Given the description of an element on the screen output the (x, y) to click on. 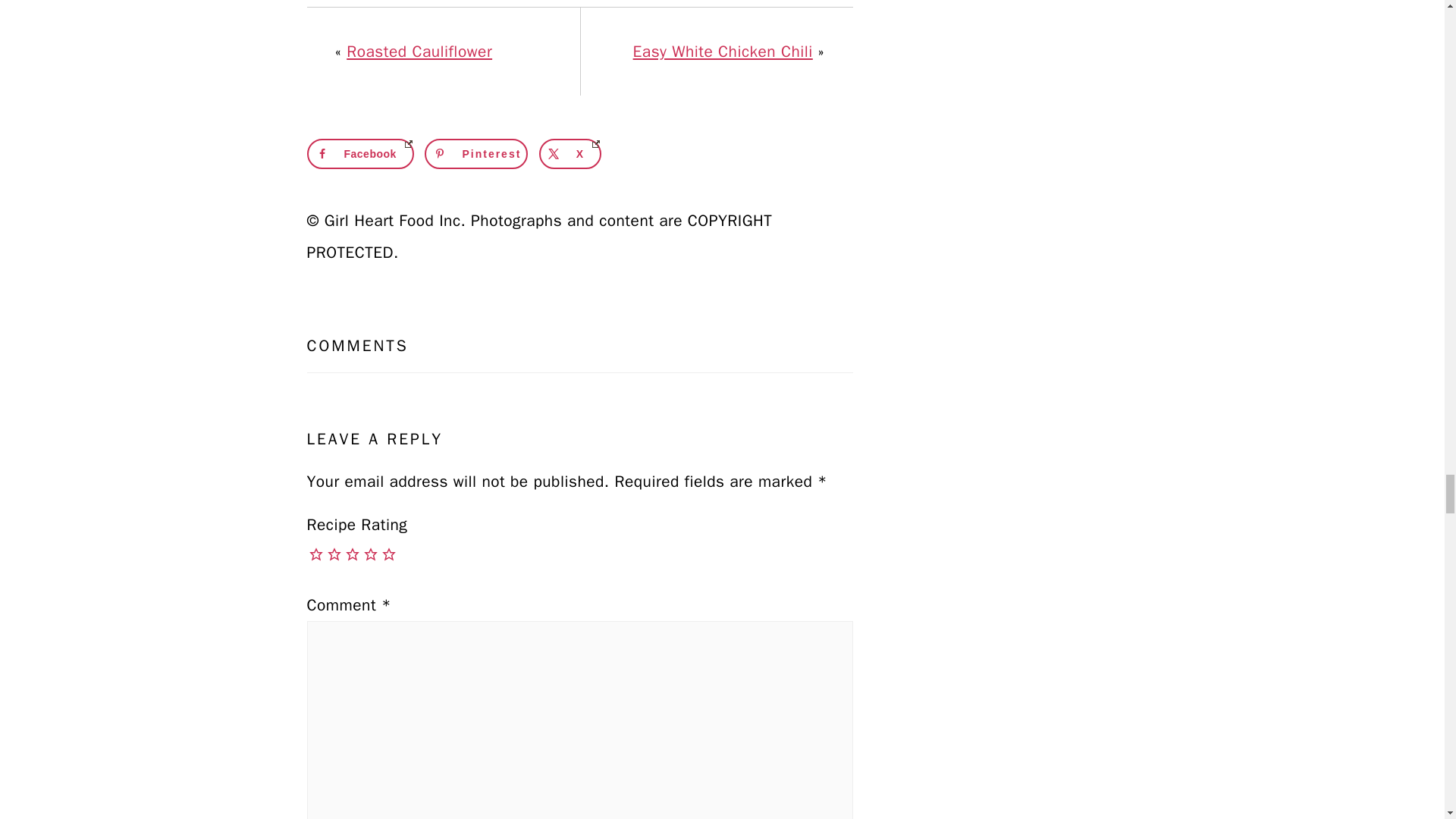
Save to Pinterest (476, 153)
Share on X (569, 153)
Share on Facebook (359, 153)
